Given the description of an element on the screen output the (x, y) to click on. 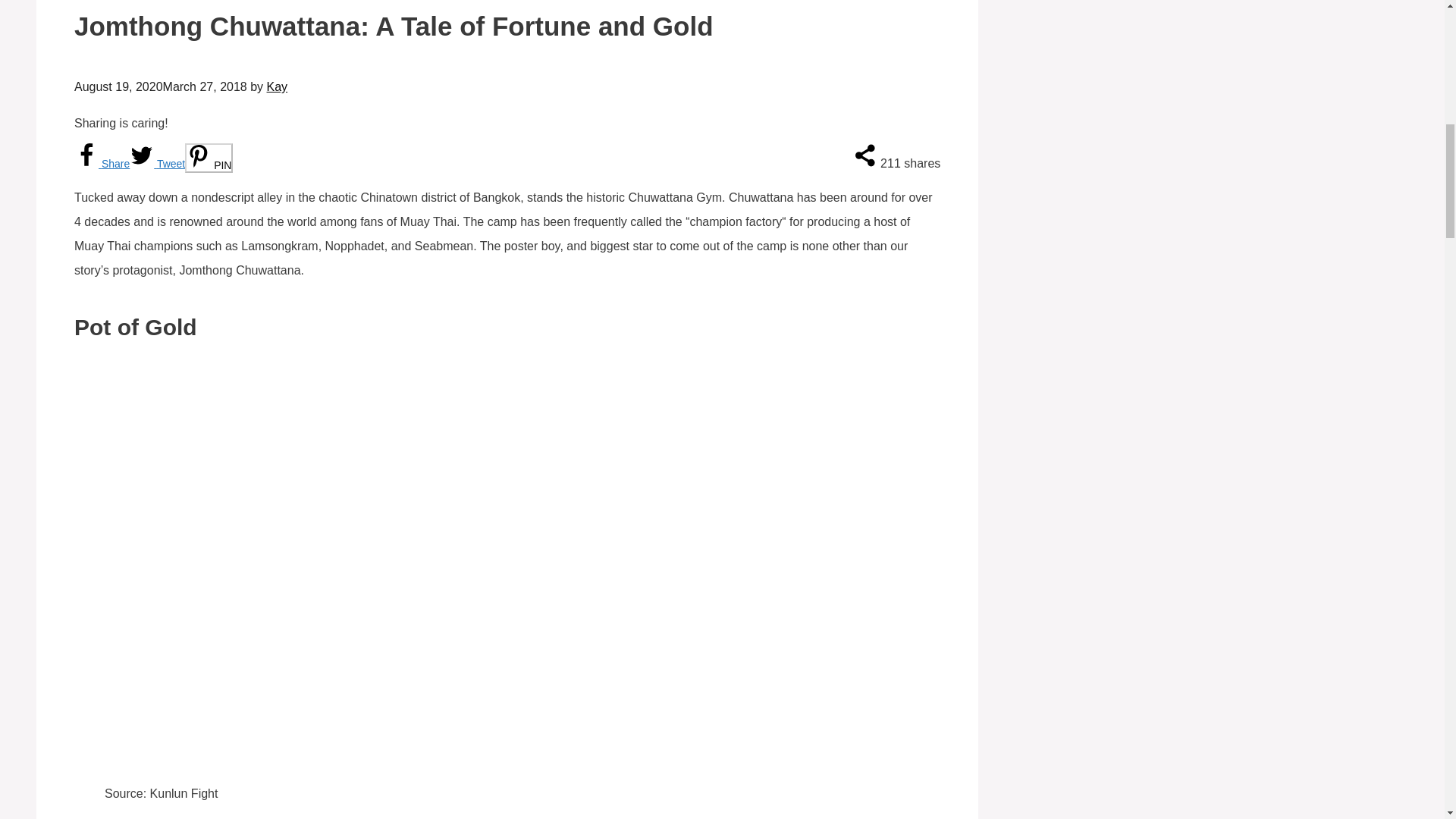
Share on Twitter (156, 163)
Kay (277, 86)
Share (101, 163)
Share on Facebook (101, 163)
View all posts by Kay (277, 86)
Save to Pinterest (208, 157)
Tweet (156, 163)
PIN (208, 157)
